Given the description of an element on the screen output the (x, y) to click on. 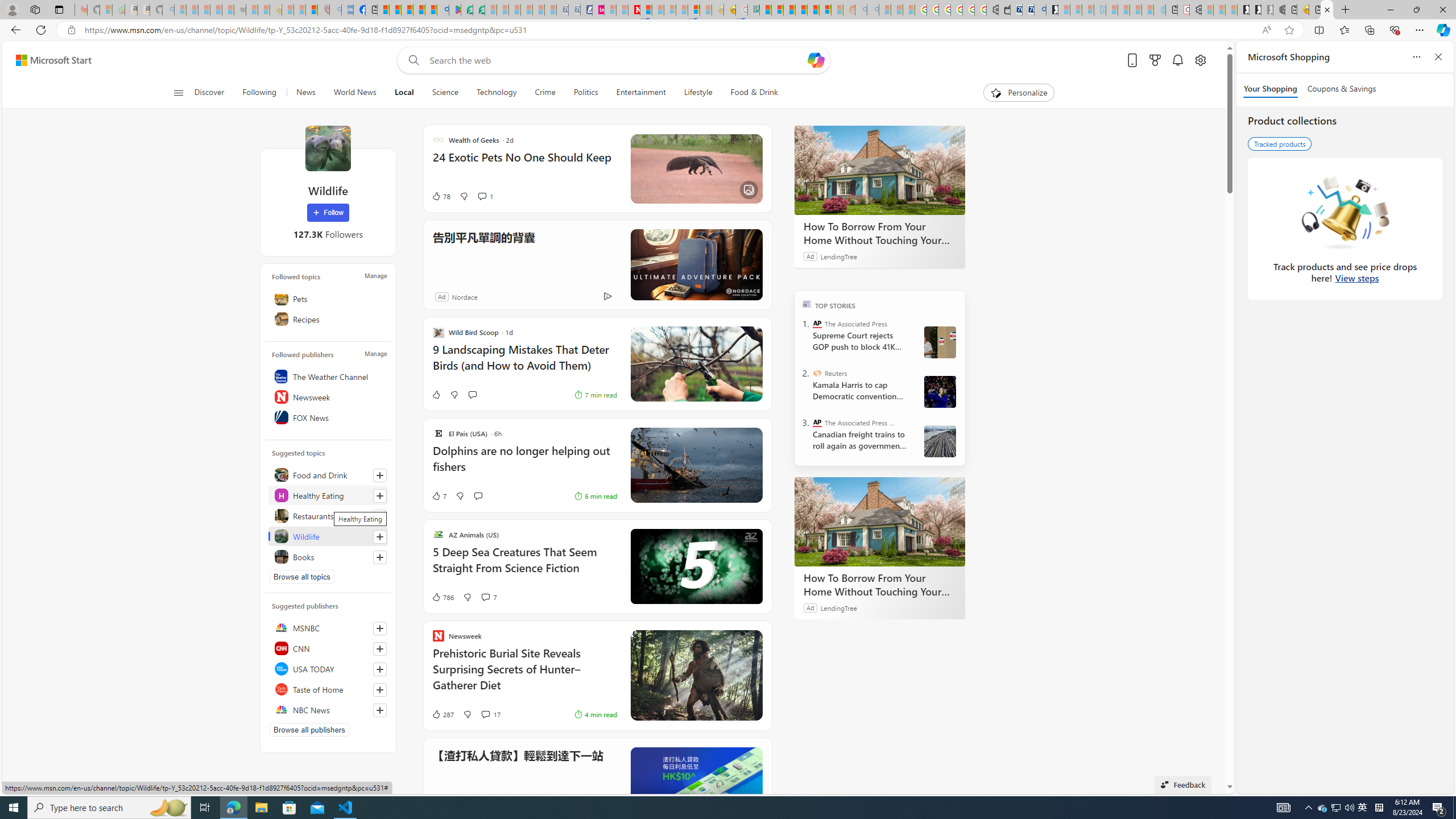
Enter your search term (617, 59)
Follow this topic (379, 557)
View comments 7 Comment (489, 597)
Offline games - Android Apps on Google Play (454, 9)
